Given the description of an element on the screen output the (x, y) to click on. 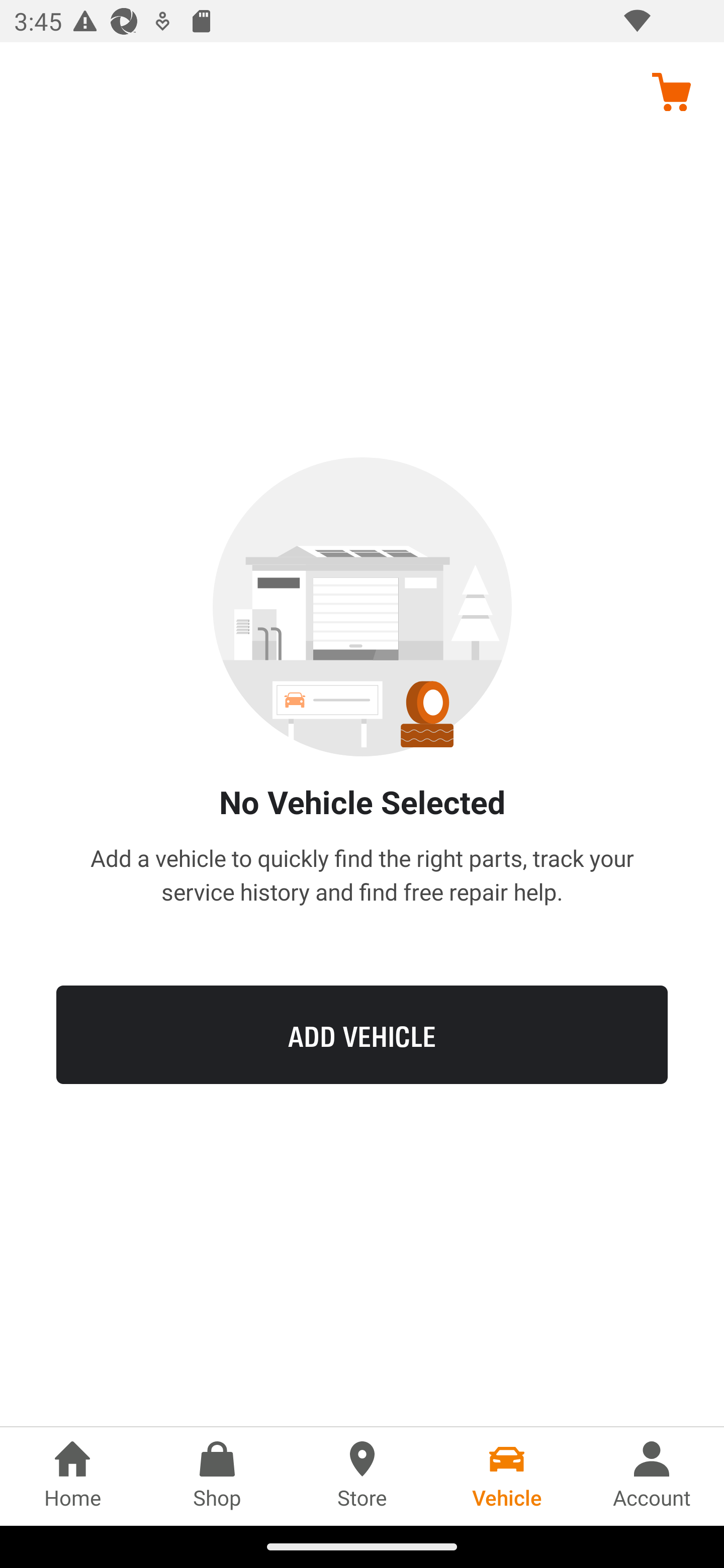
Cart, no items  (670, 91)
ADD VEHICLE (361, 1034)
Home (72, 1475)
Shop (216, 1475)
Store (361, 1475)
Vehicle (506, 1475)
Account (651, 1475)
